Given the description of an element on the screen output the (x, y) to click on. 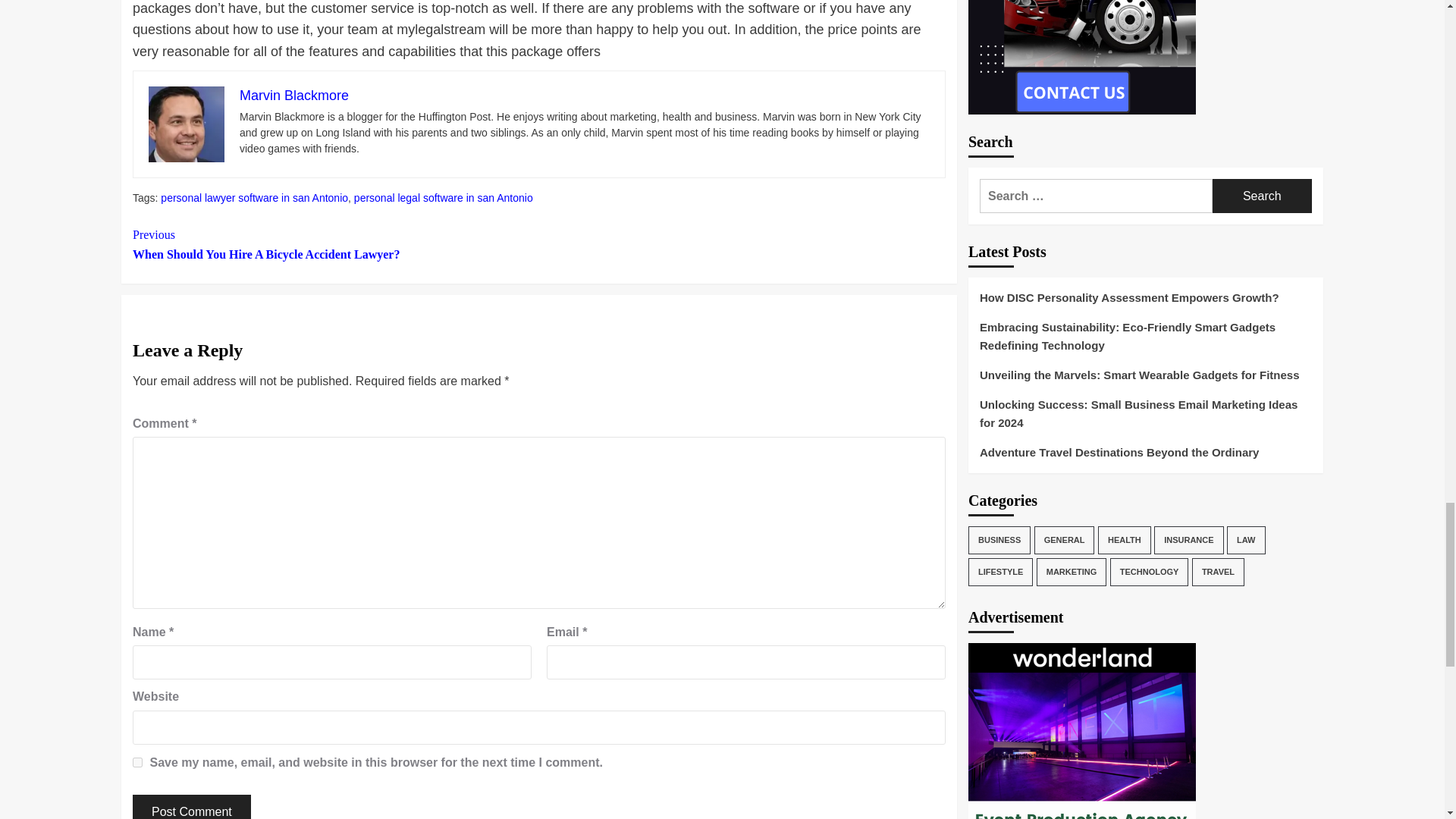
Post Comment (191, 806)
Post Comment (191, 806)
personal lawyer software in san Antonio (253, 197)
Marvin Blackmore (294, 95)
yes (335, 244)
personal legal software in san Antonio (137, 762)
